Given the description of an element on the screen output the (x, y) to click on. 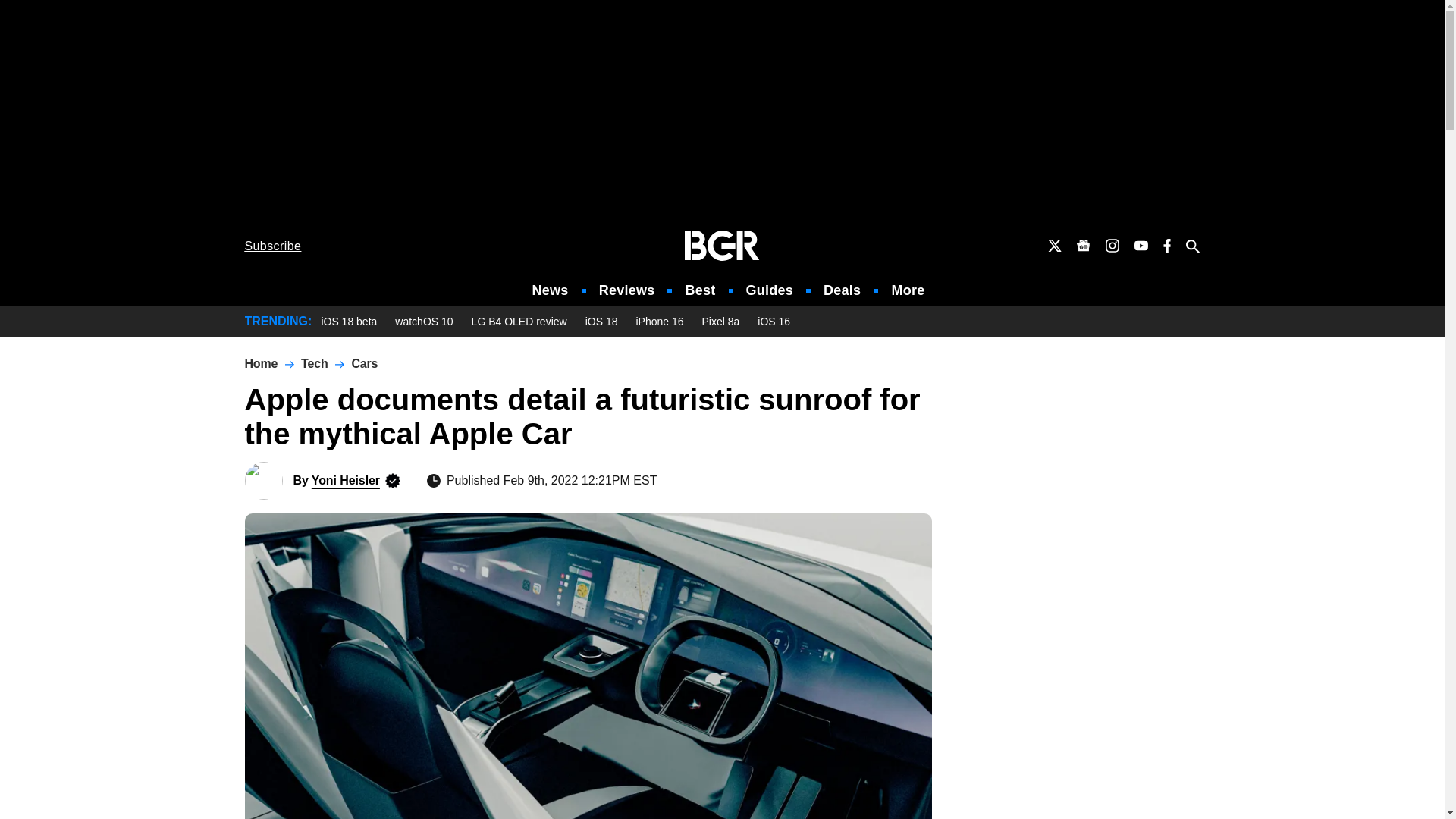
Best (699, 290)
News (550, 290)
Posts by Yoni Heisler (345, 480)
Subscribe (272, 245)
Deals (842, 290)
Guides (769, 290)
Reviews (626, 290)
More (907, 290)
